Given the description of an element on the screen output the (x, y) to click on. 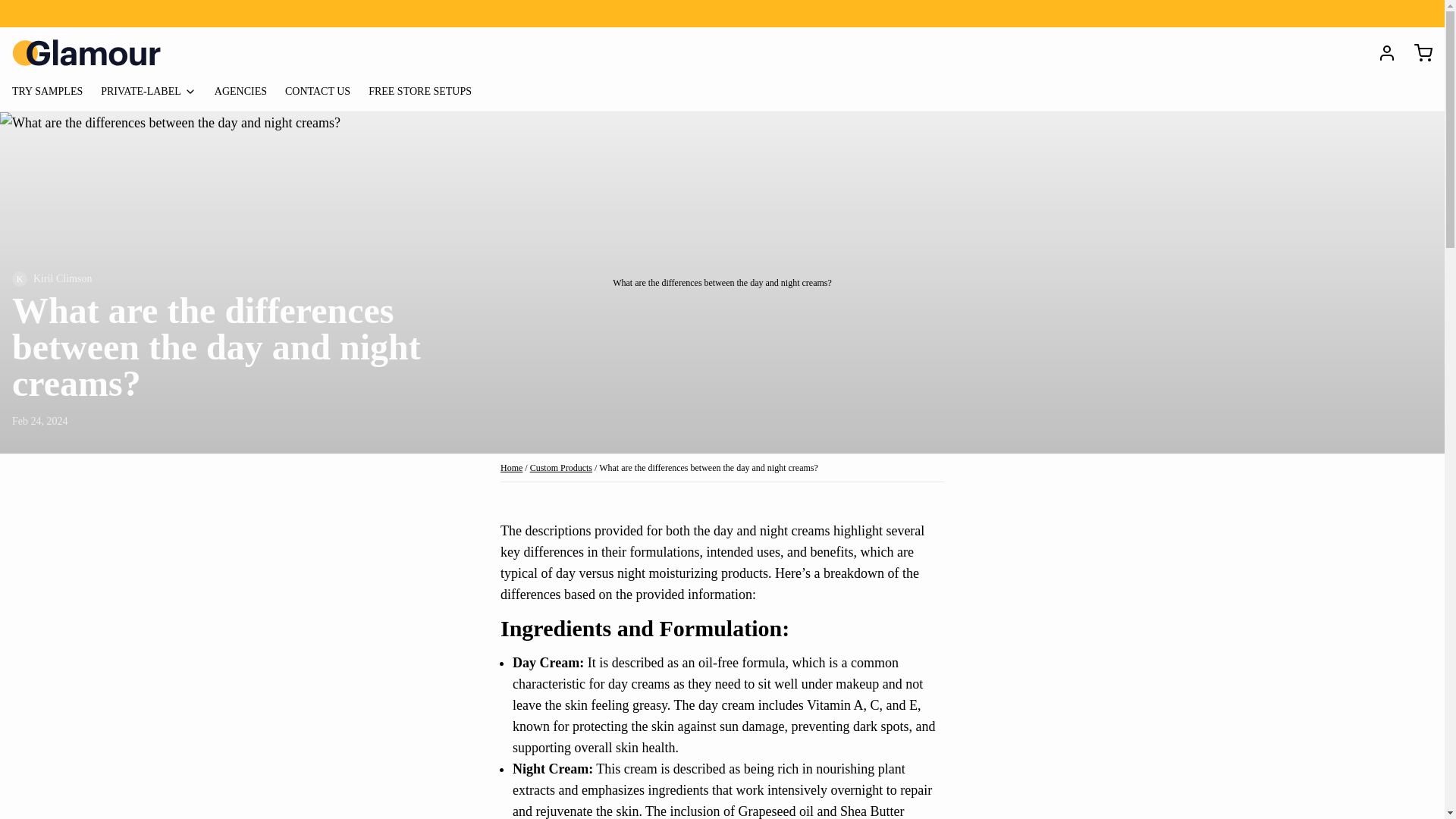
PRIVATE-LABEL (154, 94)
 Log in (1380, 53)
Home (511, 467)
TRY SAMPLES (52, 94)
Cart (1417, 53)
viaGlamour Cosmetics Lab (86, 52)
